Given the description of an element on the screen output the (x, y) to click on. 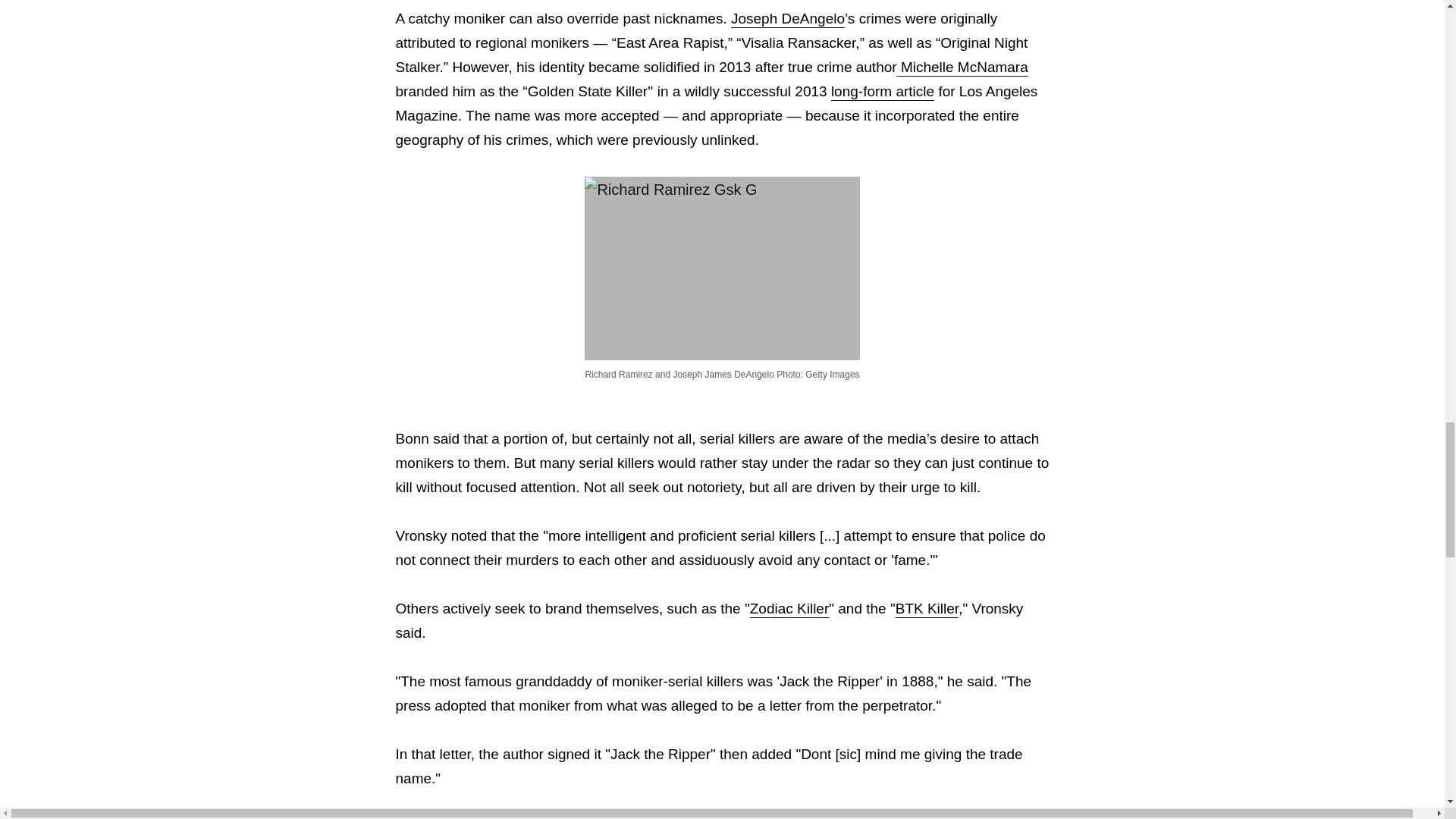
Michelle McNamara (961, 66)
Joseph DeAngelo (787, 18)
BTK Killer (926, 608)
Zodiac Killer (789, 608)
long-form article (882, 91)
